Given the description of an element on the screen output the (x, y) to click on. 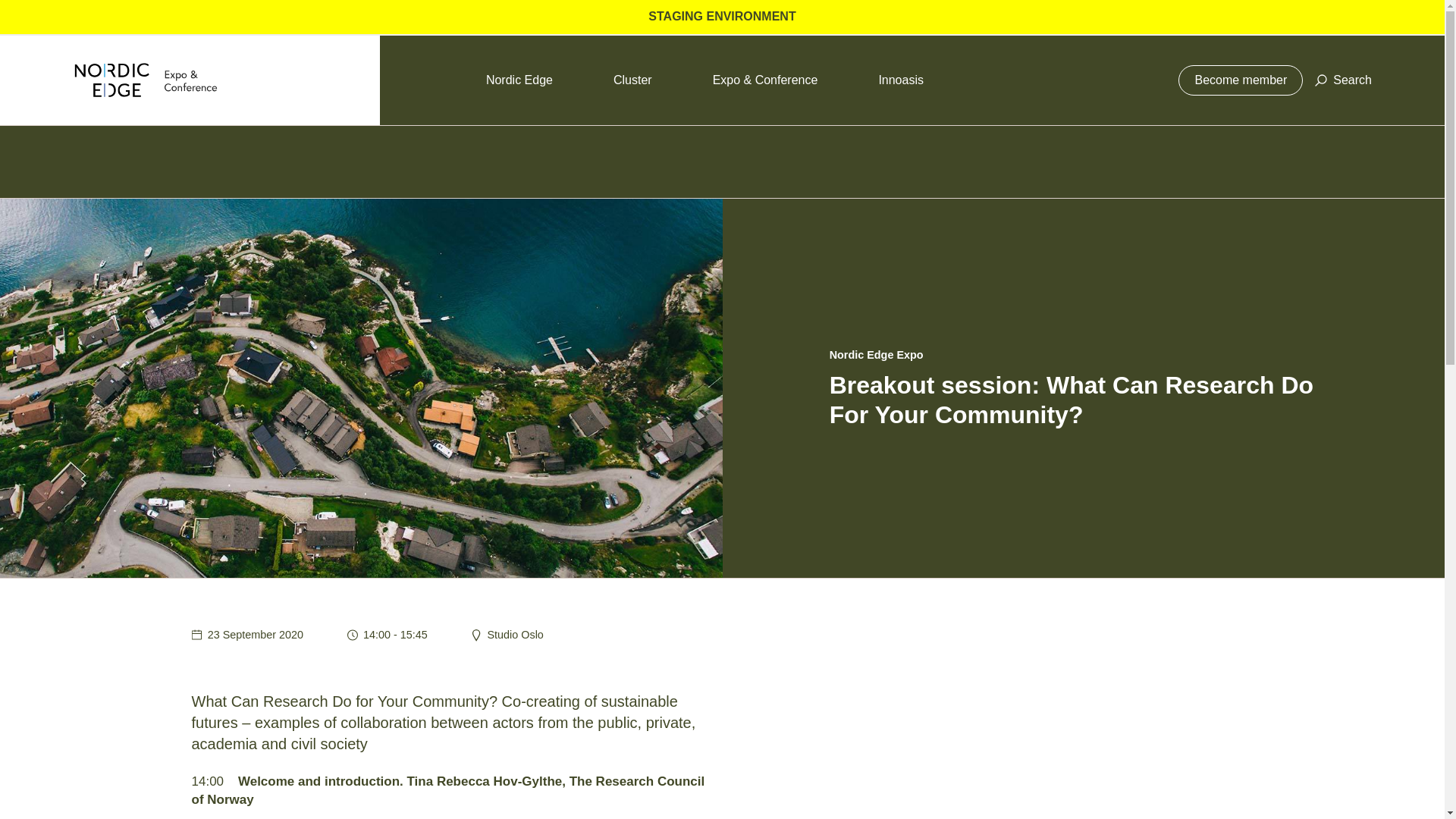
Become member (1240, 80)
Innoasis (900, 79)
Search (1342, 80)
Cluster (632, 79)
Nordic Edge (519, 79)
